Given the description of an element on the screen output the (x, y) to click on. 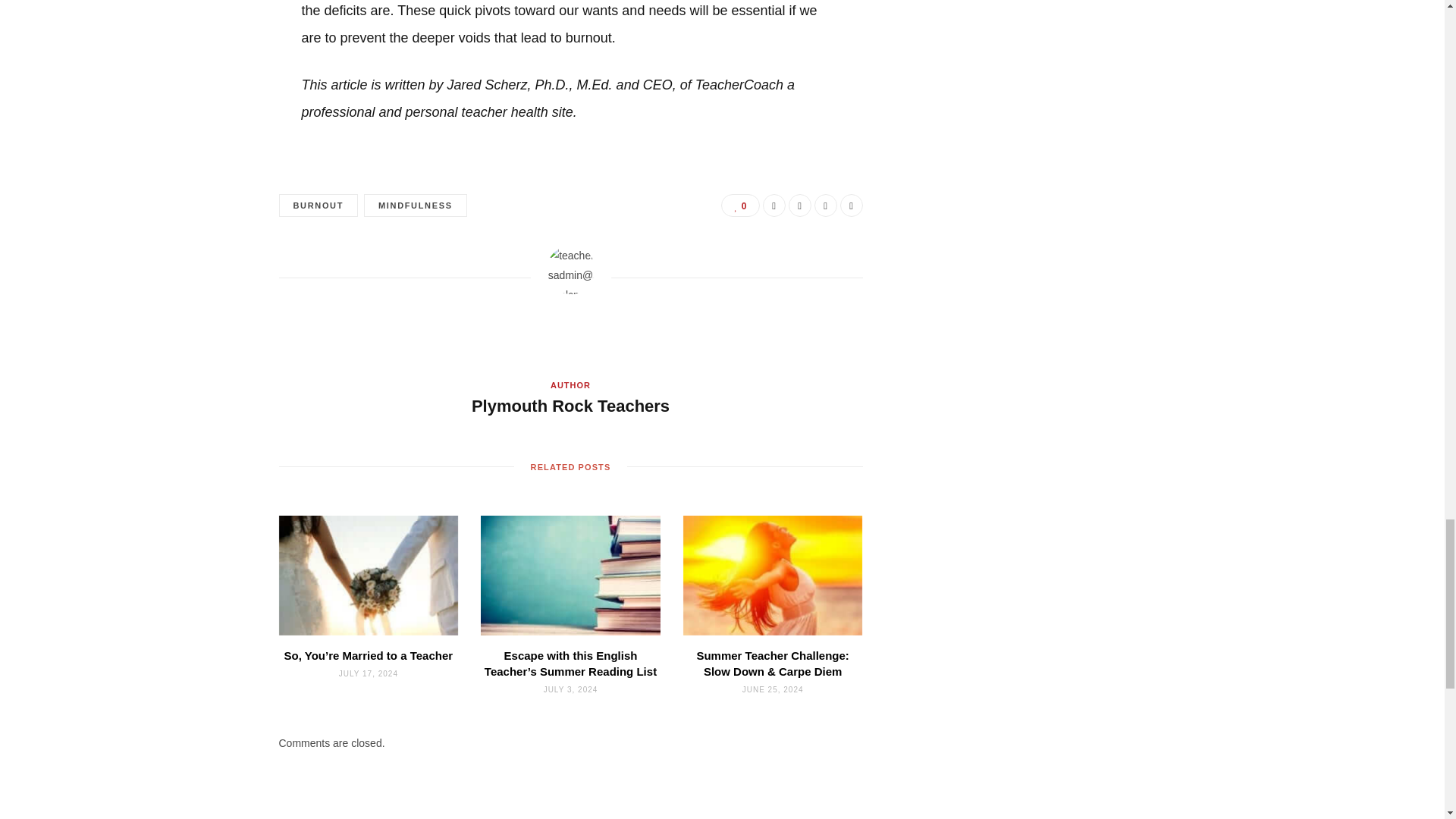
Share on Facebook (774, 205)
Plymouth Rock Teachers (570, 406)
Share on Pinterest (851, 205)
0 (739, 205)
Posts by Plymouth Rock Teachers (570, 406)
BURNOUT (318, 205)
MINDFULNESS (415, 205)
Share on Twitter (799, 205)
